Given the description of an element on the screen output the (x, y) to click on. 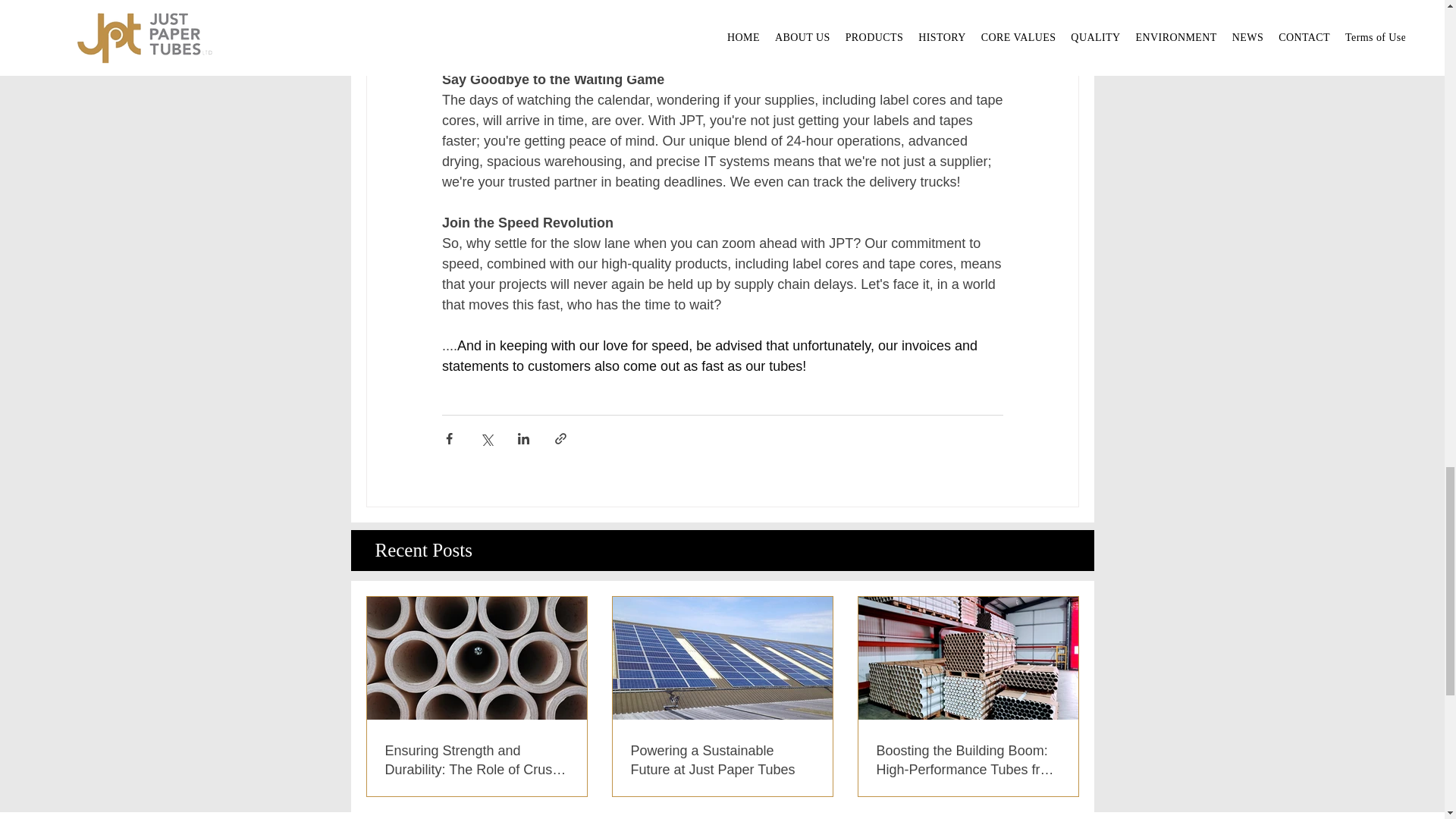
Powering a Sustainable Future at Just Paper Tubes (721, 760)
